Given the description of an element on the screen output the (x, y) to click on. 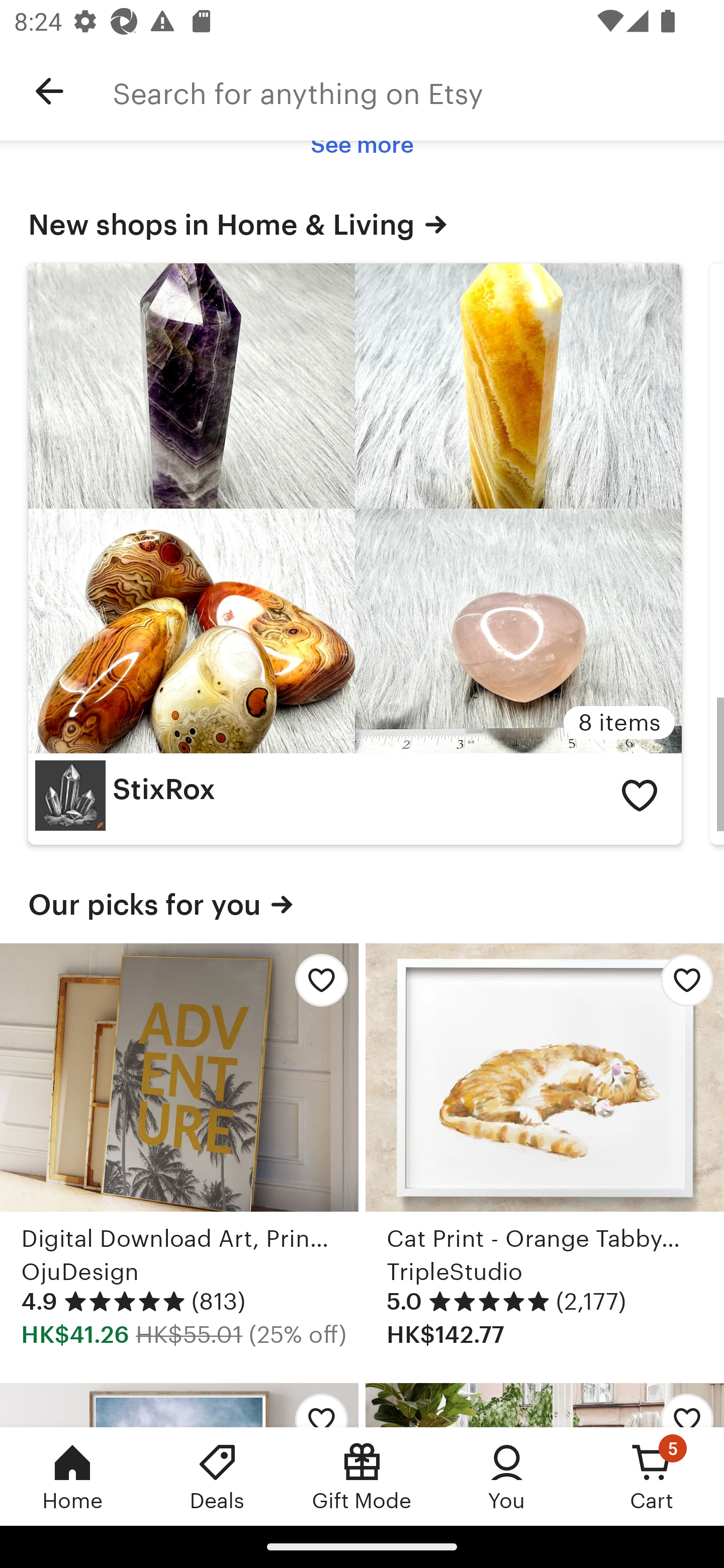
Navigate up (49, 91)
Search for anything on Etsy (418, 91)
New shops in Home & Living  (361, 224)
Shop StixRox is not favorited. Press to favorite (639, 794)
Our picks for you  (361, 904)
Deals (216, 1475)
Gift Mode (361, 1475)
You (506, 1475)
Cart, 5 new notifications Cart (651, 1475)
